Given the description of an element on the screen output the (x, y) to click on. 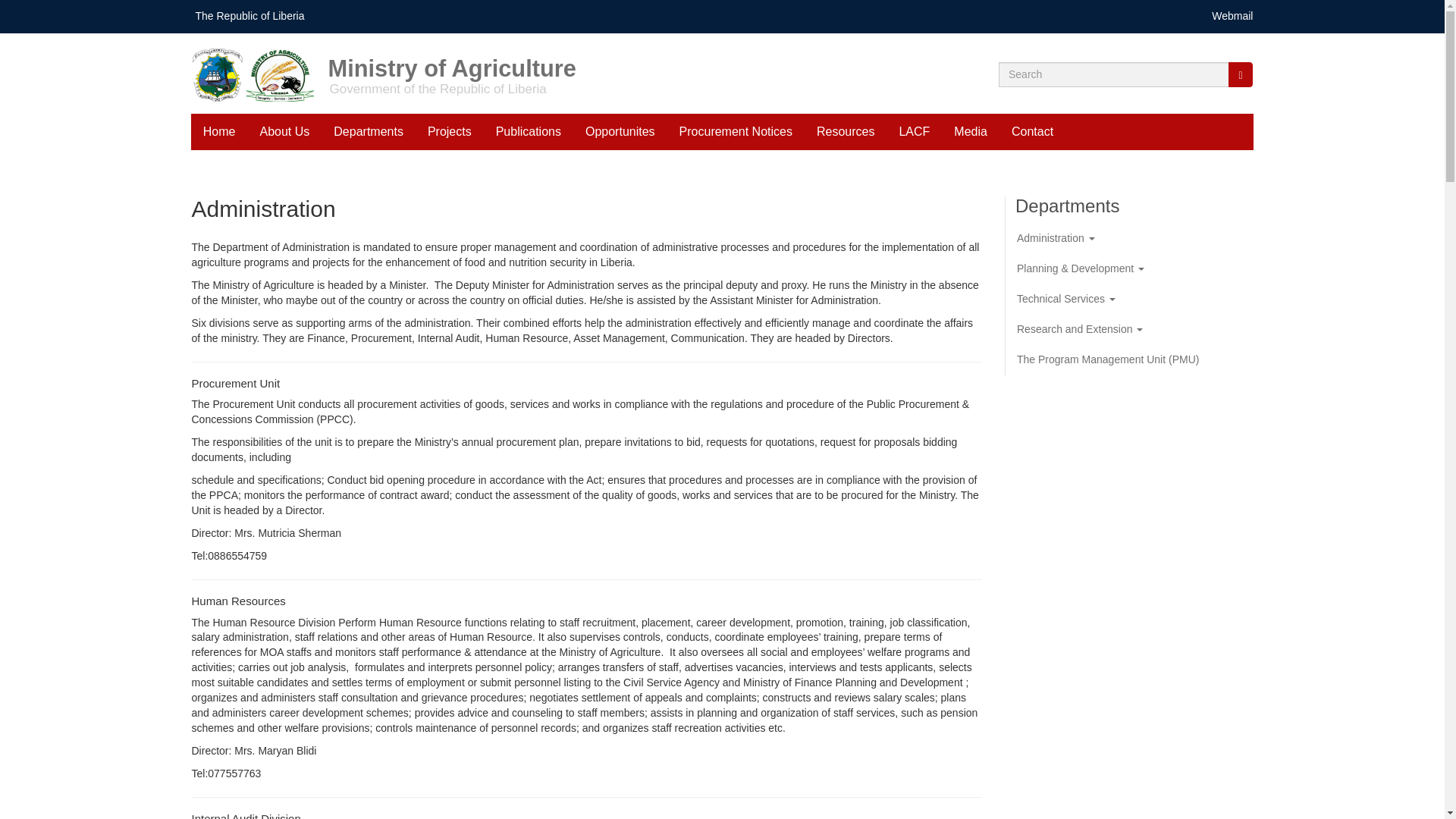
Departments (367, 131)
Home (650, 52)
Ministry of Agriculture (650, 52)
About Us (284, 131)
The Republic of Liberia (249, 15)
Enter the terms you wish to search for. (1113, 74)
Home (218, 131)
Home (258, 73)
Search (1240, 74)
